Given the description of an element on the screen output the (x, y) to click on. 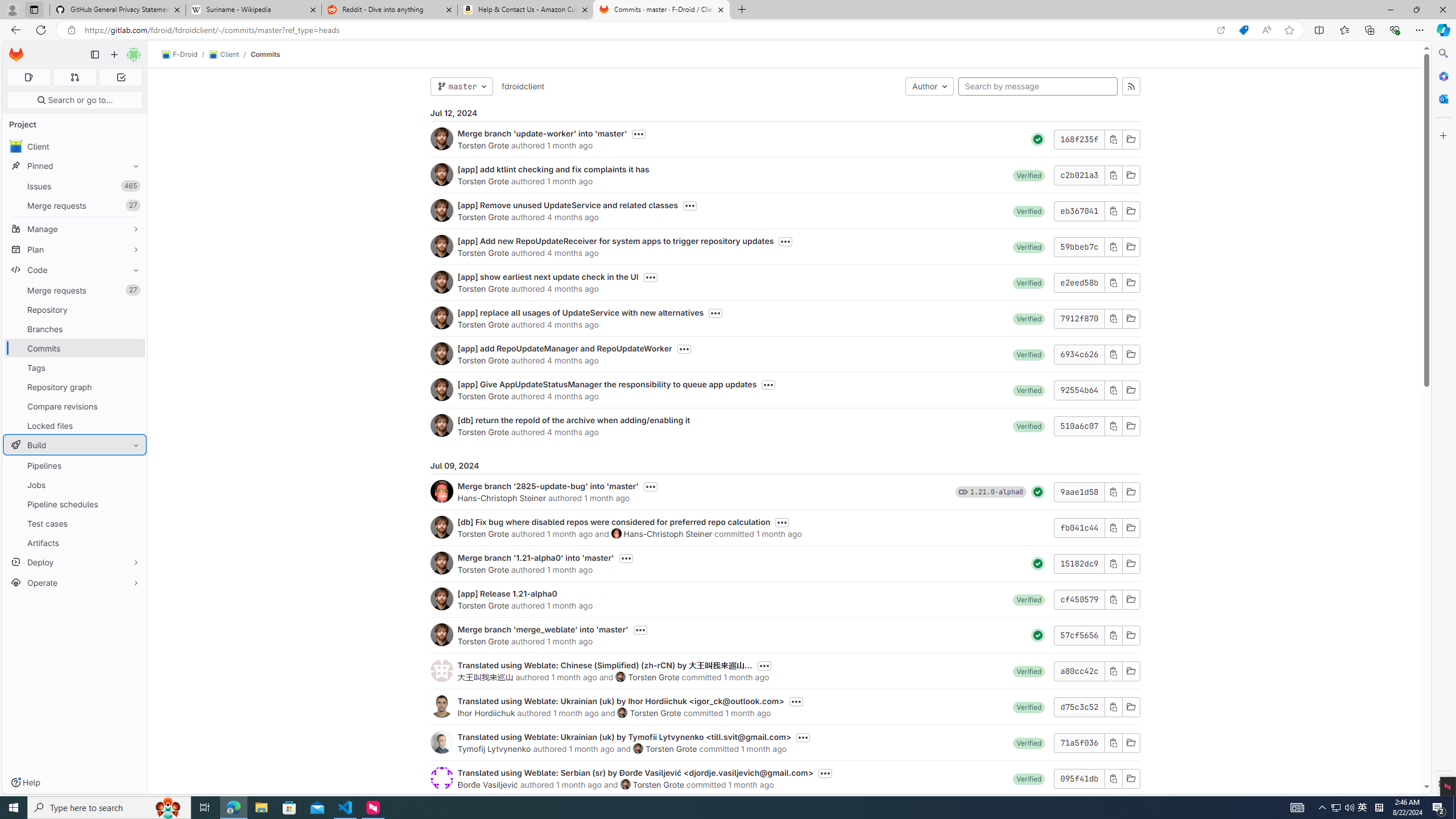
Torsten Grote's avatar (625, 783)
Hans-Christoph Steiner's avatar (616, 533)
Suriname - Wikipedia (253, 9)
F-Droid/ (185, 54)
Tymofij Lytvynenko (494, 748)
Merge branch '2825-update-bug' into 'master' (548, 485)
GitHub General Privacy Statement - GitHub Docs (117, 9)
Branches (74, 328)
Merge branch '1.21-alpha0' into 'master' (535, 557)
BuildPipelinesJobsPipeline schedulesTest casesArtifacts (74, 493)
Branches (74, 328)
Plan (74, 248)
